Given the description of an element on the screen output the (x, y) to click on. 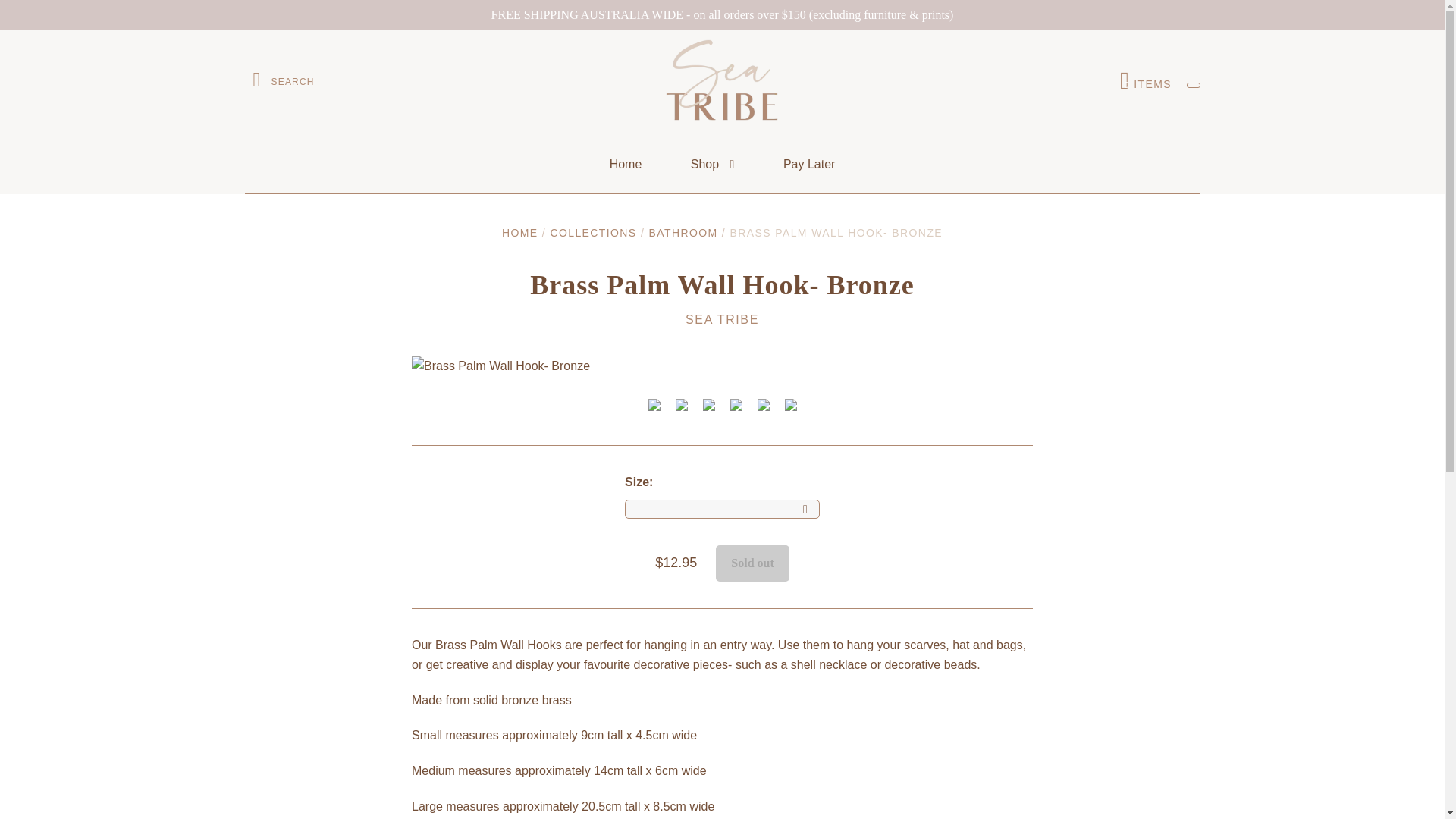
Home (625, 164)
BATHROOM (683, 232)
HOME (520, 232)
SEA TRIBE (721, 320)
Shop (712, 164)
COLLECTIONS (593, 232)
Sold out (752, 563)
Pay Later (1145, 80)
